Given the description of an element on the screen output the (x, y) to click on. 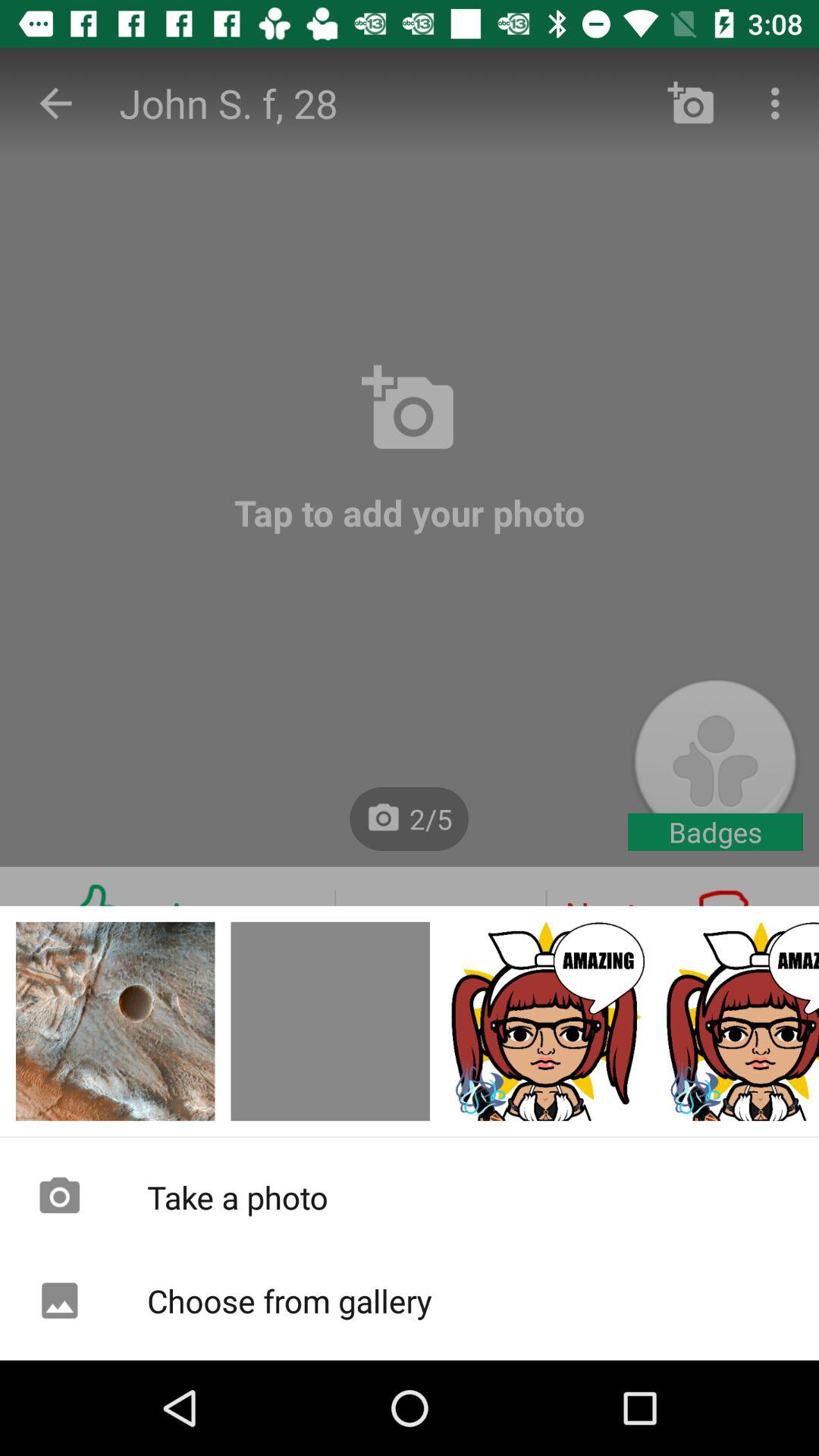
launch the icon above the choose from gallery icon (409, 1196)
